Given the description of an element on the screen output the (x, y) to click on. 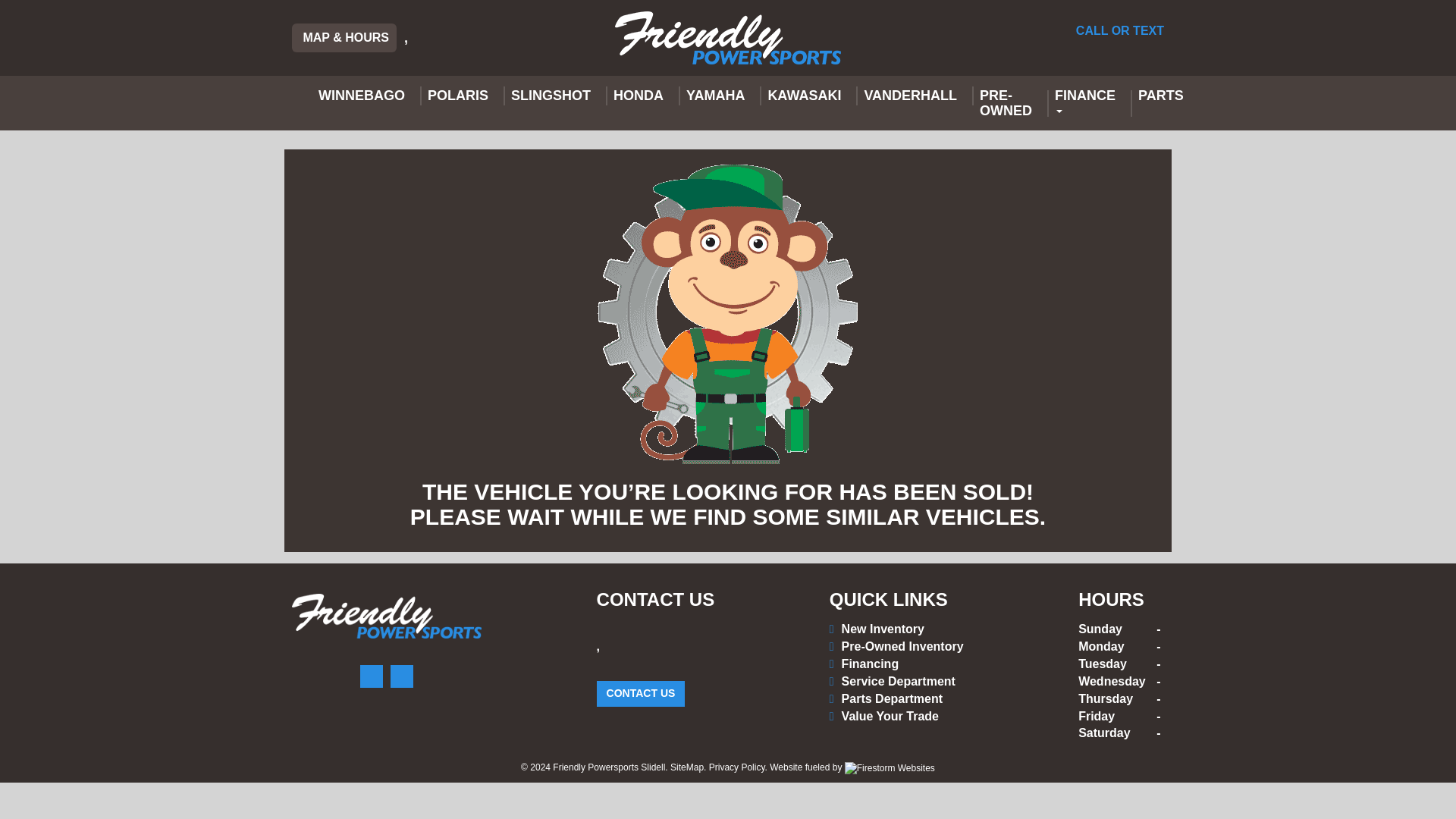
FINANCE (1084, 102)
HONDA (638, 95)
Yamaha (715, 95)
SLINGSHOT (550, 95)
VANDERHALL (909, 95)
POLARIS (457, 95)
Privacy Policy (737, 767)
Winnebago (361, 95)
CONTACT US (640, 693)
Pre-Owned (1005, 102)
Polaris (457, 95)
Service Department (896, 682)
PRE-OWNED (1005, 102)
SiteMap (686, 767)
Kawasaki (803, 95)
